Given the description of an element on the screen output the (x, y) to click on. 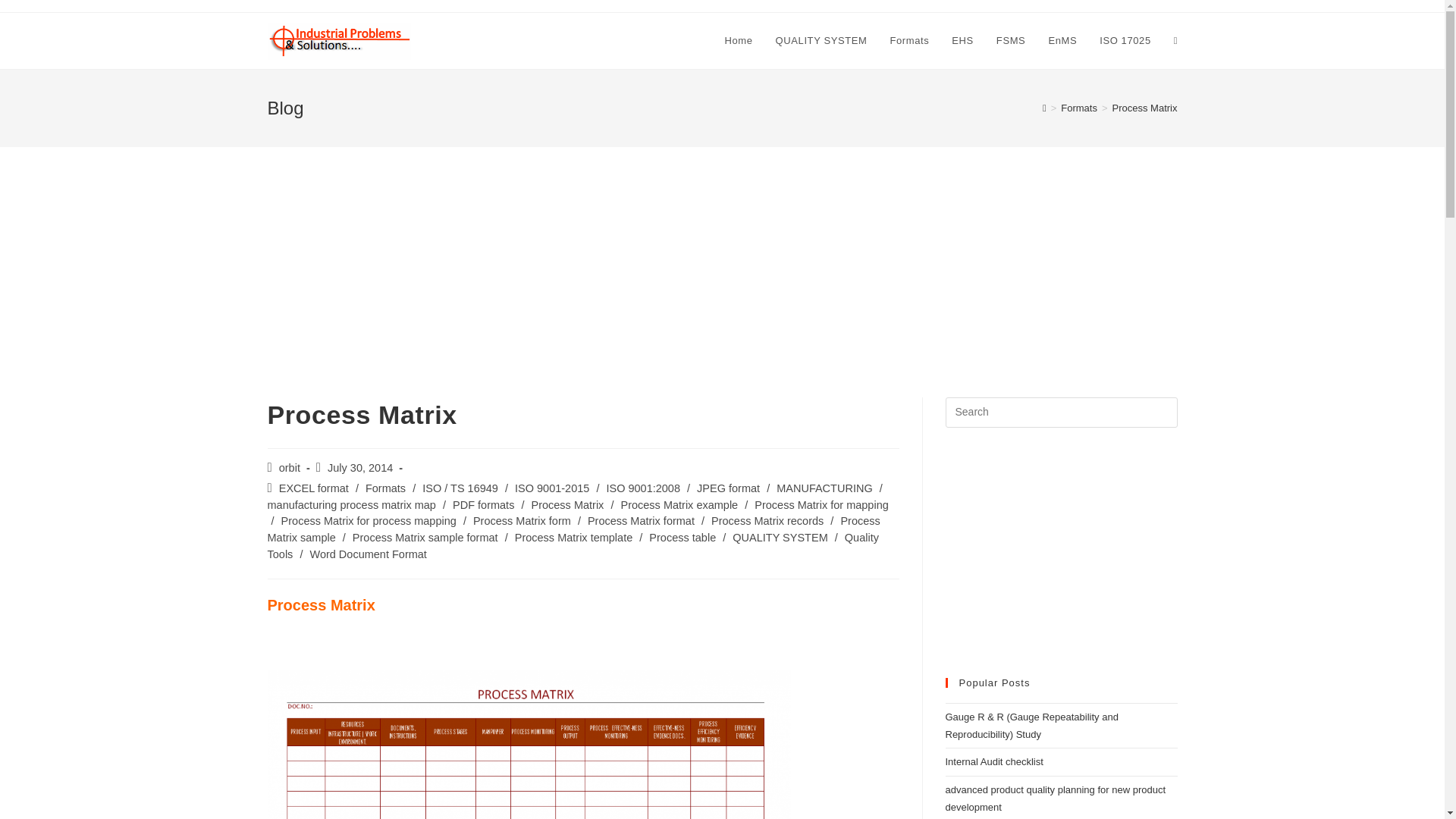
Process Matrix records (767, 521)
EXCEL format (314, 488)
FSMS (1010, 40)
Process Matrix form (521, 521)
Home (738, 40)
Process Matrix (1144, 107)
EnMS (1061, 40)
JPEG format (728, 488)
Process Matrix (567, 504)
Process Matrix for mapping (821, 504)
